Given the description of an element on the screen output the (x, y) to click on. 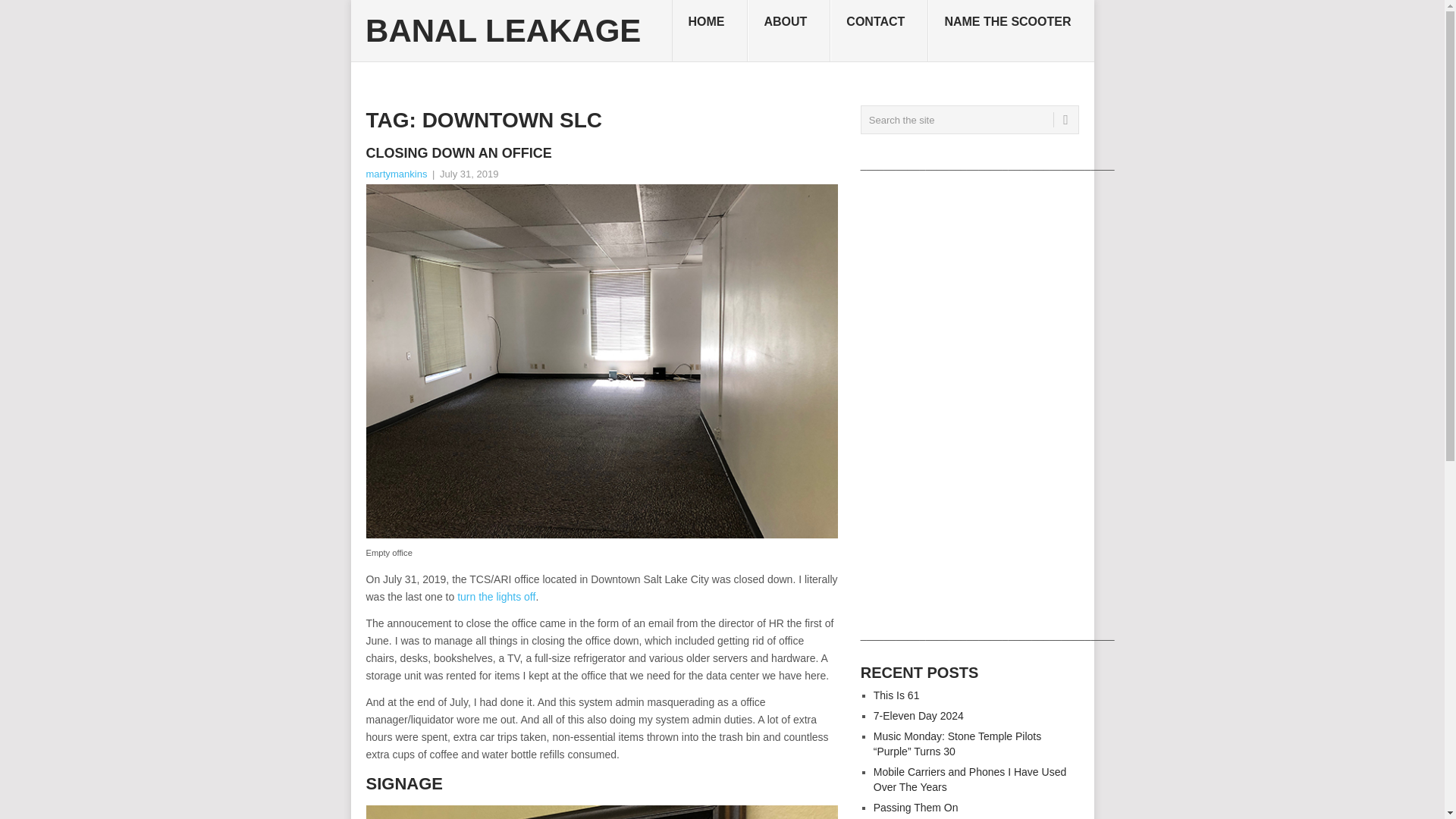
HOME (709, 31)
CLOSING DOWN AN OFFICE (601, 153)
martymankins (395, 173)
turn the lights off (496, 596)
ABOUT (788, 31)
7-Eleven Day 2024 (918, 715)
Search the site (969, 119)
Passing Them On (915, 807)
CONTACT (878, 31)
Posts by martymankins (395, 173)
